Given the description of an element on the screen output the (x, y) to click on. 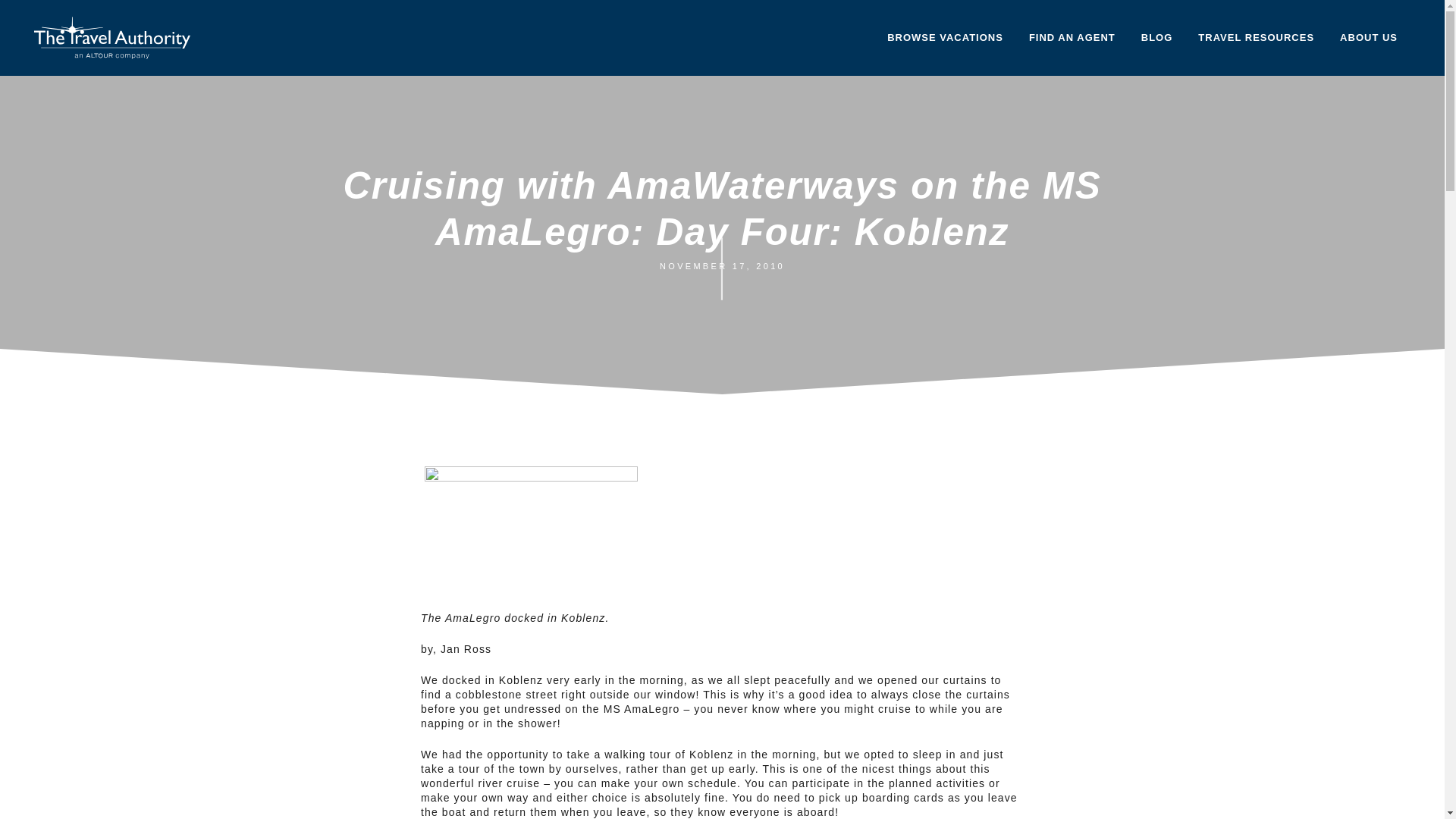
TRAVEL RESOURCES (1255, 38)
ABOUT US (1368, 38)
BROWSE VACATIONS (945, 38)
FIND AN AGENT (1072, 38)
